Given the description of an element on the screen output the (x, y) to click on. 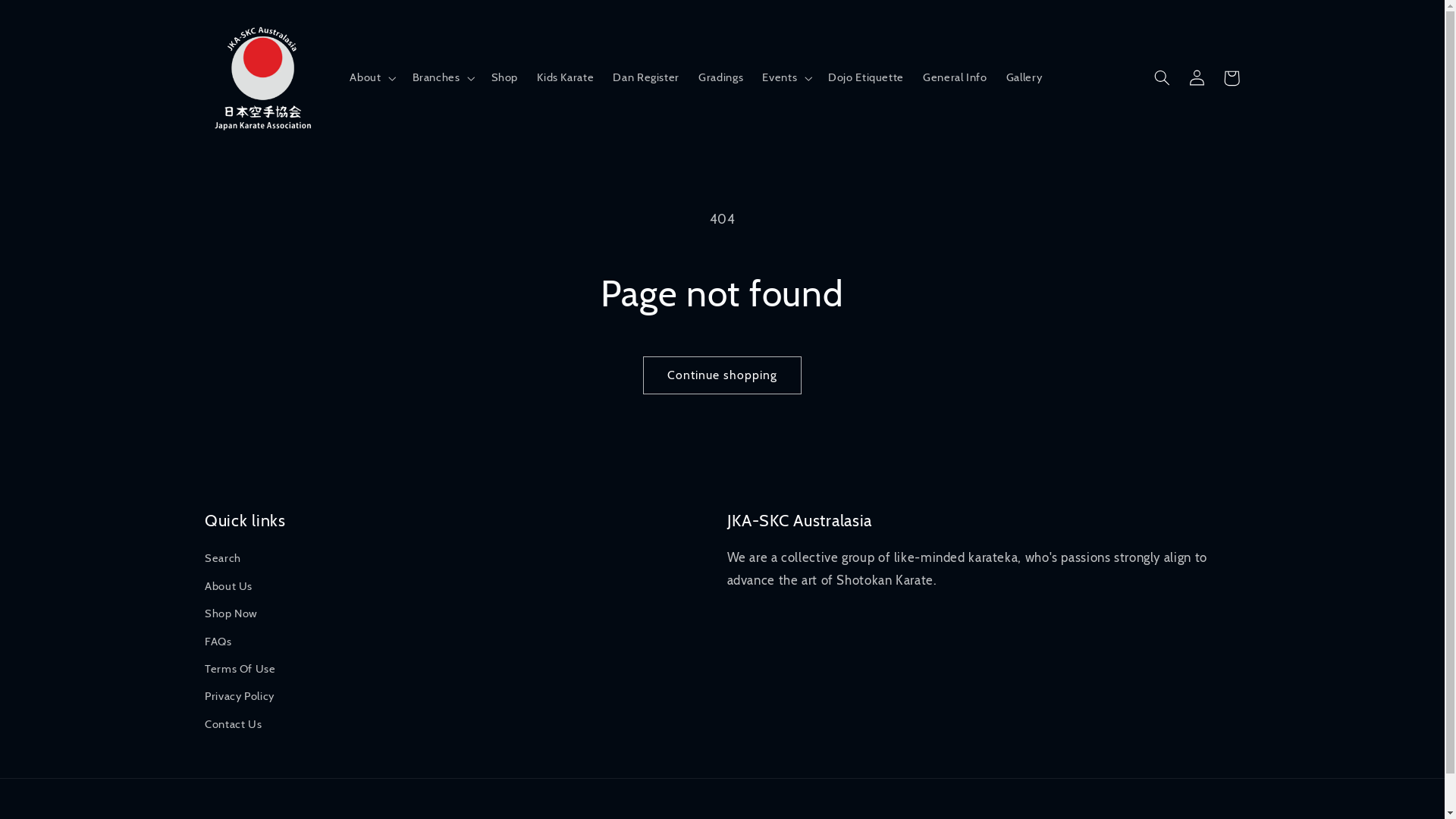
Shop Now Element type: text (230, 613)
About Us Element type: text (228, 586)
Kids Karate Element type: text (565, 77)
Cart Element type: text (1231, 77)
Continue shopping Element type: text (722, 374)
Dojo Etiquette Element type: text (866, 77)
Terms Of Use Element type: text (240, 669)
Privacy Policy Element type: text (239, 696)
Dan Register Element type: text (646, 77)
General Info Element type: text (955, 77)
Gallery Element type: text (1023, 77)
Gradings Element type: text (721, 77)
Log in Element type: text (1196, 77)
Search Element type: text (222, 560)
FAQs Element type: text (218, 641)
Shop Element type: text (504, 77)
Contact Us Element type: text (232, 724)
